Given the description of an element on the screen output the (x, y) to click on. 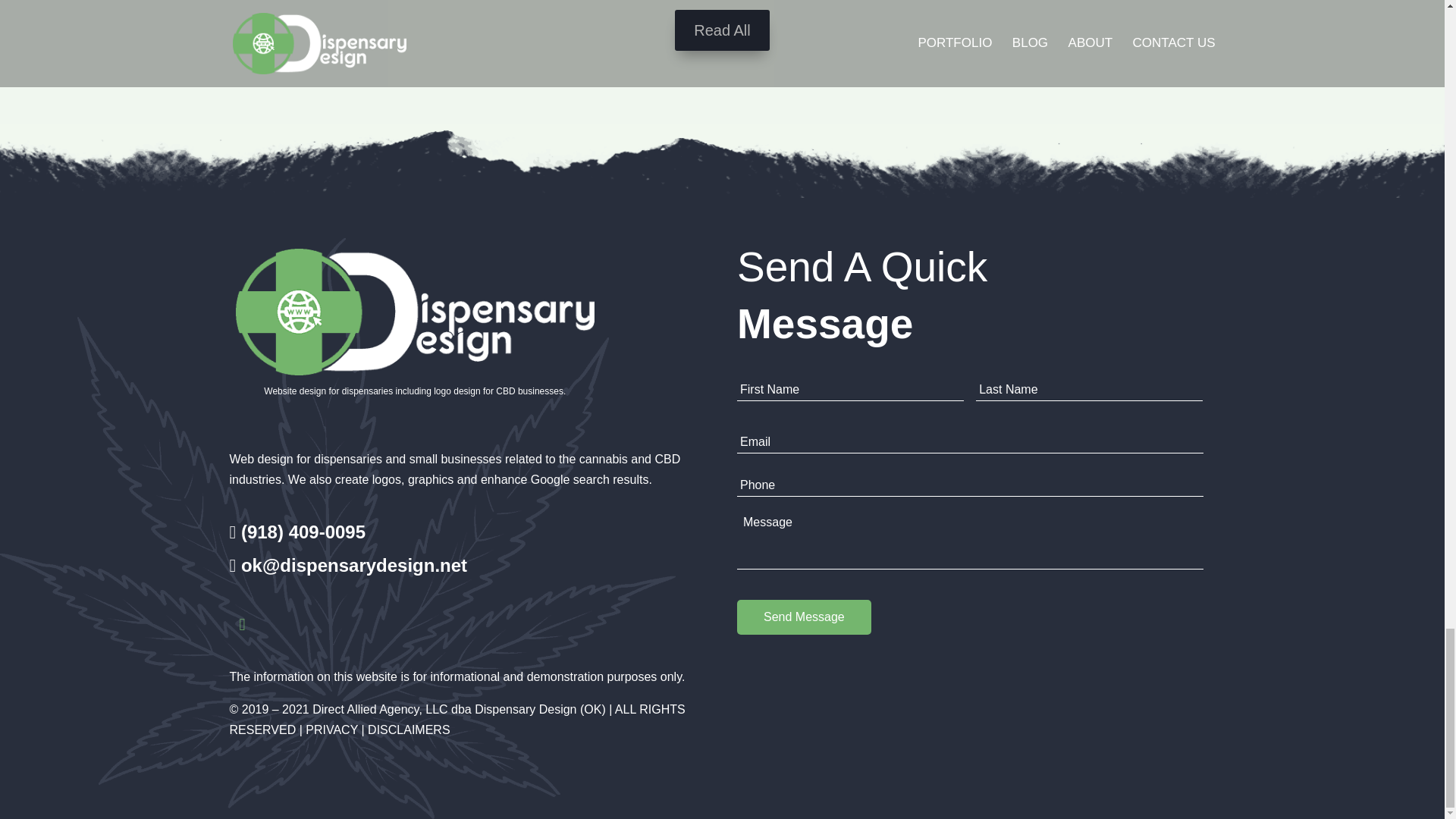
Send Message (803, 616)
Send Message (803, 616)
Read All (722, 29)
PRIVACY (331, 729)
DISCLAIMERS (408, 729)
